Given the description of an element on the screen output the (x, y) to click on. 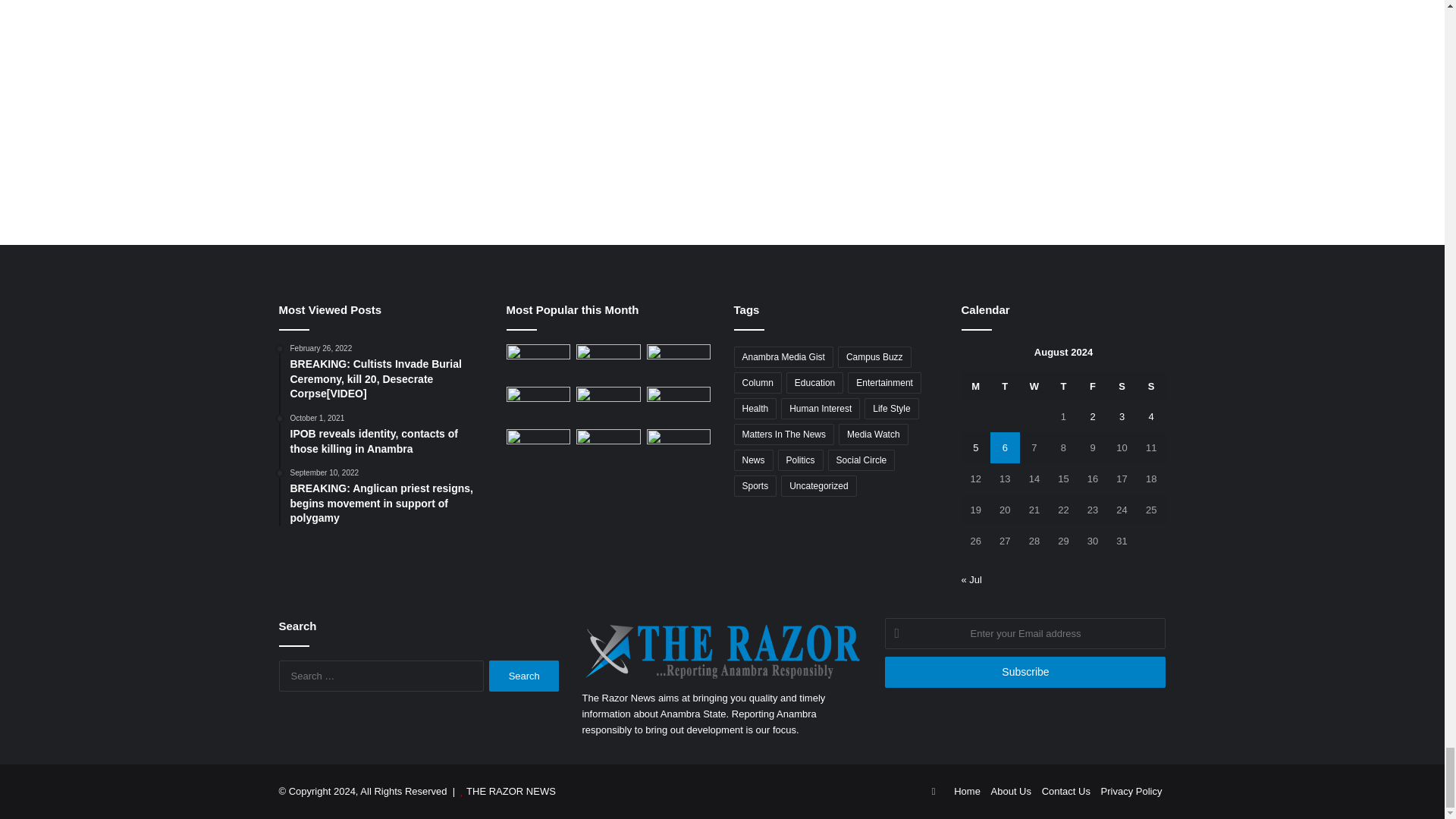
Search (524, 675)
Subscribe (1025, 671)
Search (524, 675)
